Given the description of an element on the screen output the (x, y) to click on. 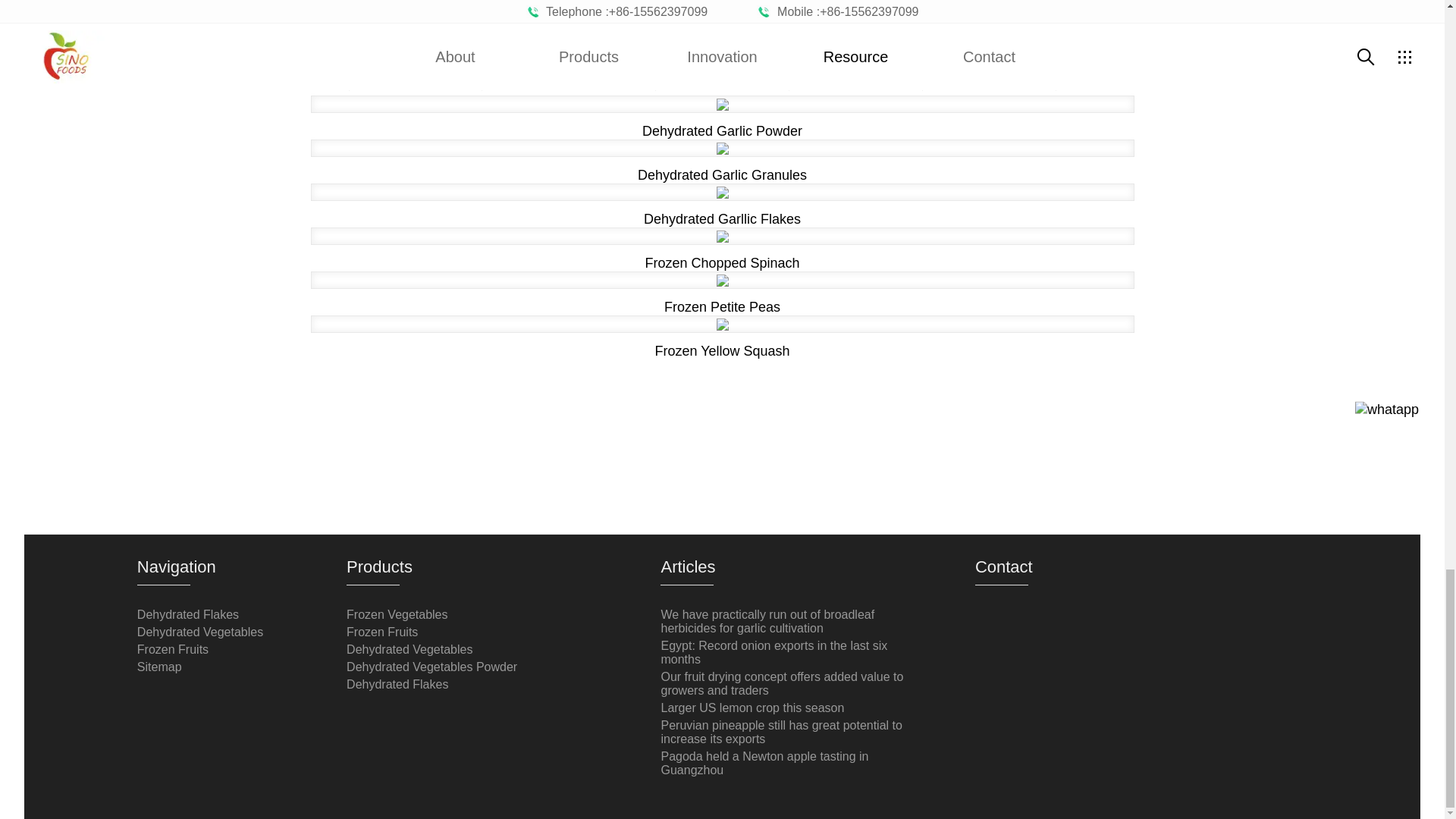
Frozen Fruits (381, 631)
Frozen Vegetables (396, 614)
Dehydrated Vegetables (408, 649)
